Given the description of an element on the screen output the (x, y) to click on. 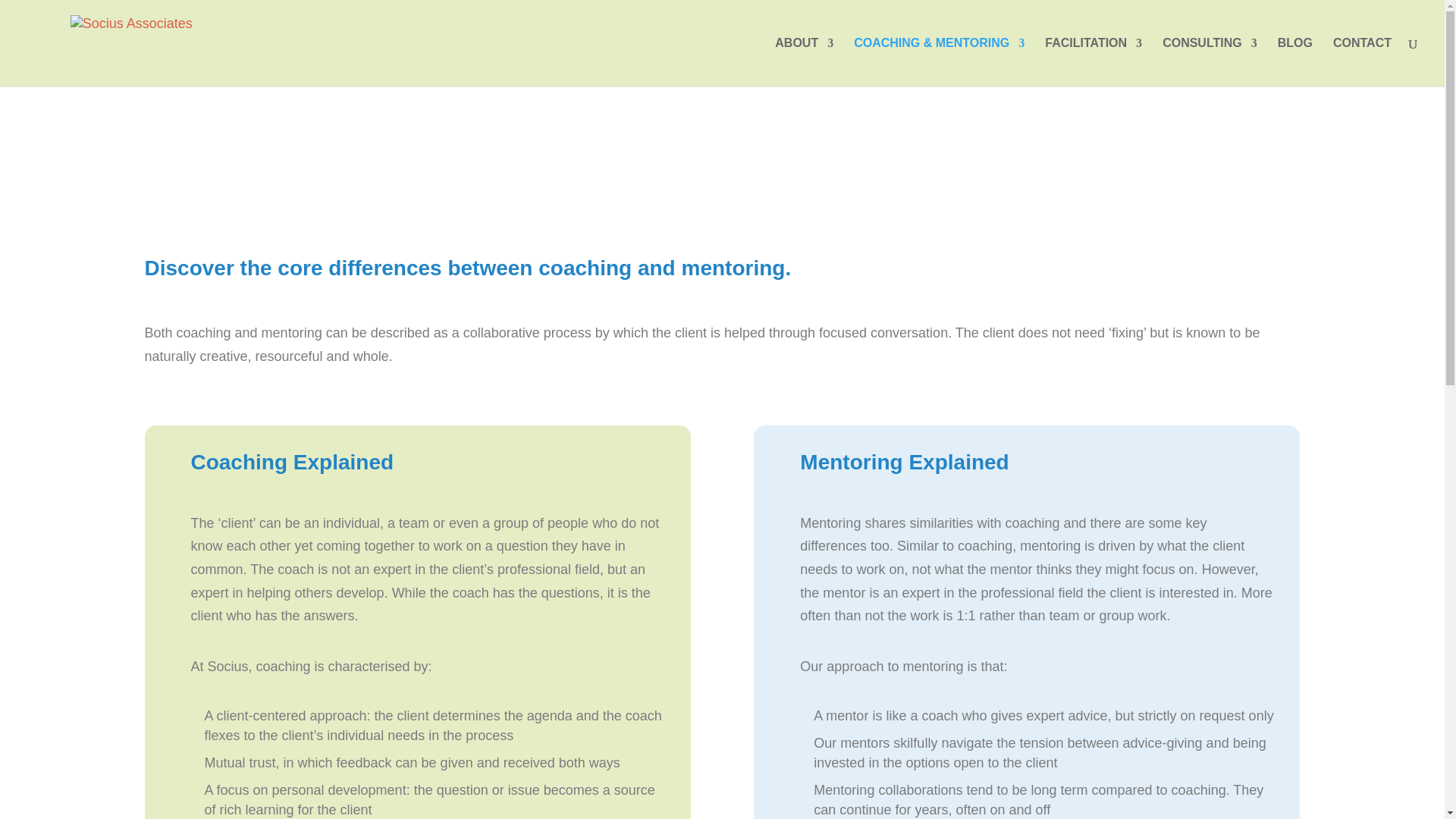
CONSULTING (1209, 61)
ABOUT (803, 61)
CONTACT (1362, 61)
FACILITATION (1093, 61)
BLOG (1295, 61)
